Given the description of an element on the screen output the (x, y) to click on. 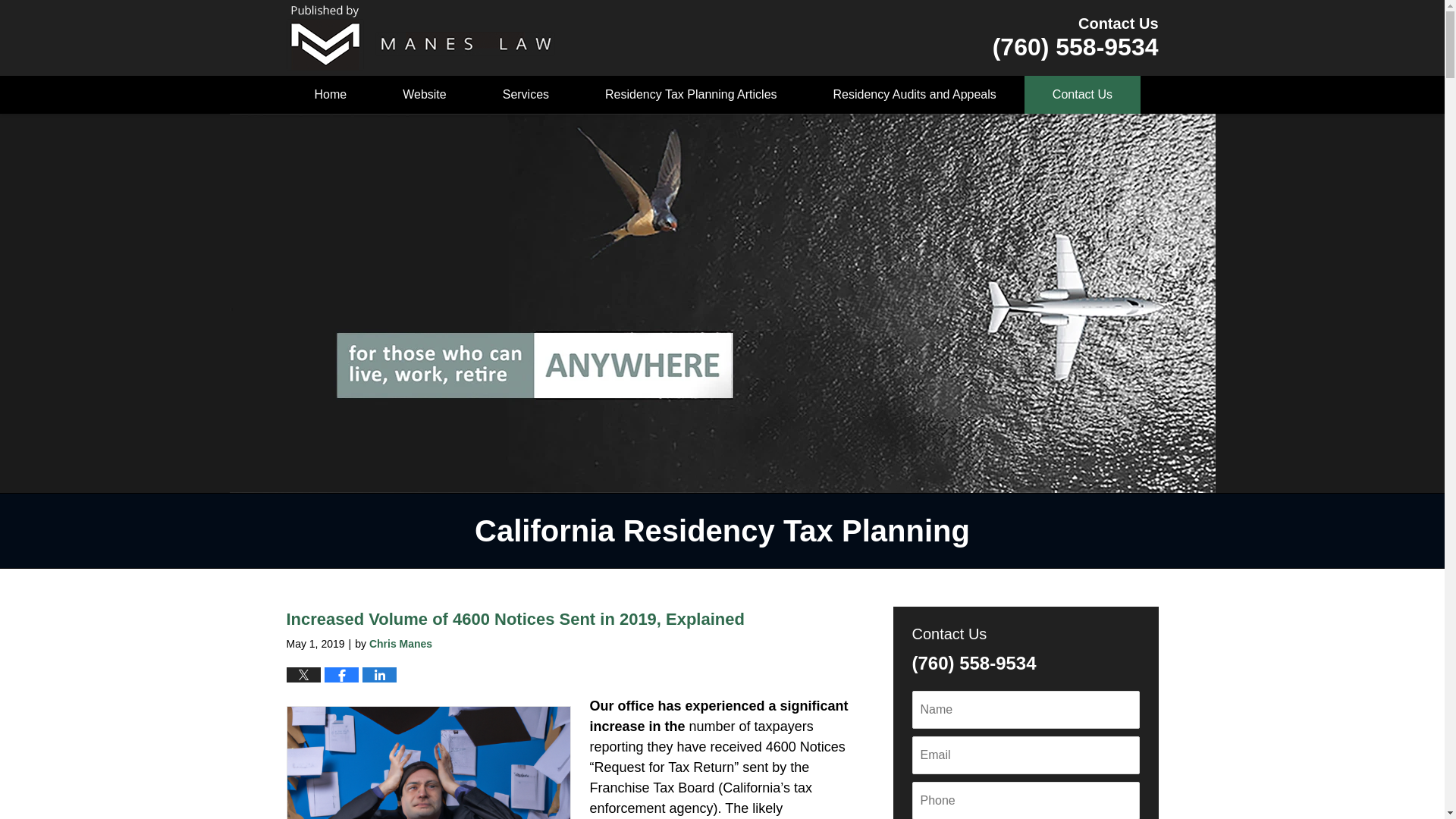
Services (525, 94)
California Residency Tax Planning (420, 37)
Residency Tax Planning Articles (690, 94)
Website (424, 94)
Increased Volume of 4600 Notices Sent in 2019, Explained (515, 618)
Chris Manes (400, 644)
Residency Audits and Appeals (915, 94)
Contact Us (1082, 94)
Home (330, 94)
